Given the description of an element on the screen output the (x, y) to click on. 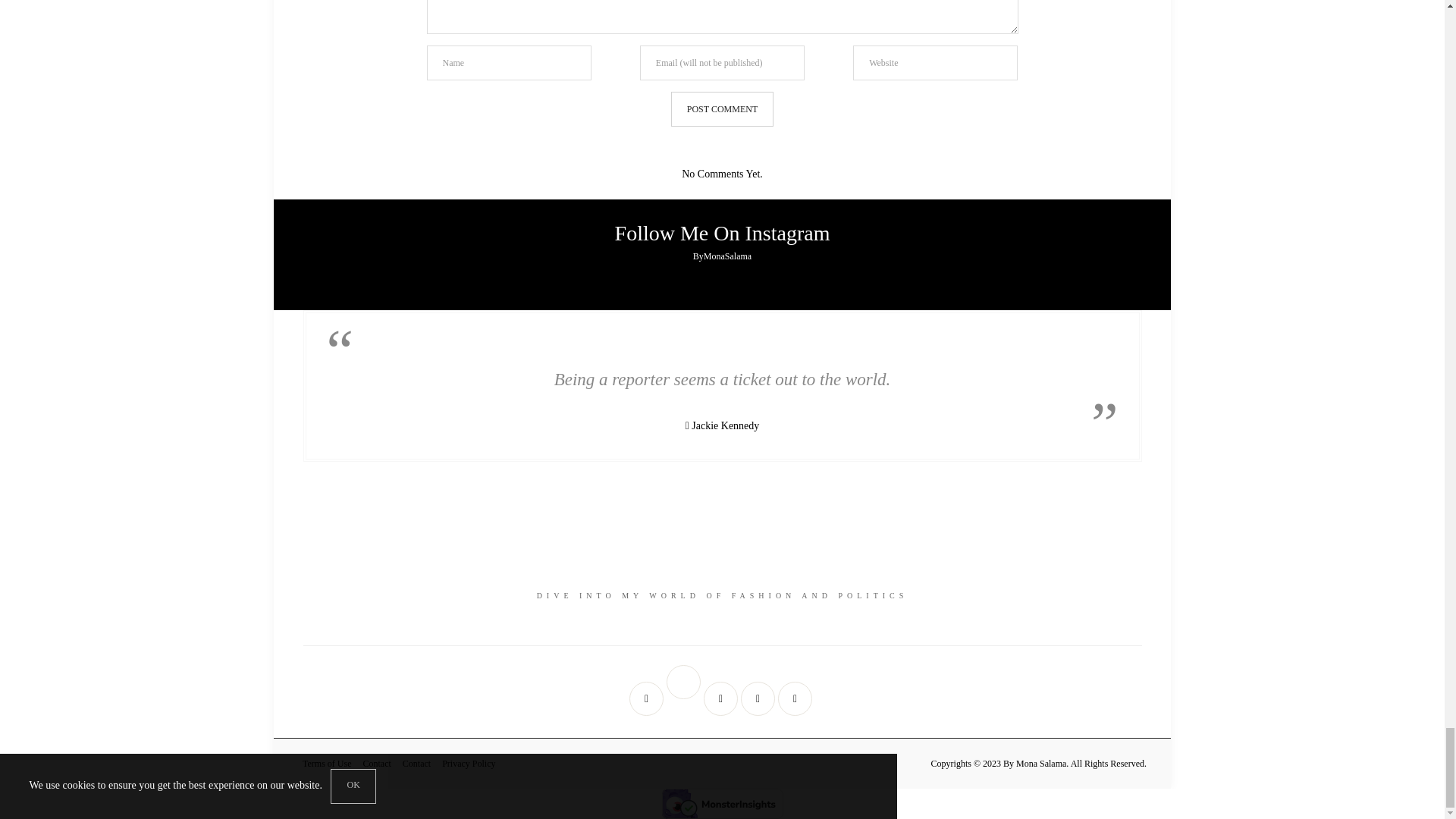
Post comment (722, 108)
